Given the description of an element on the screen output the (x, y) to click on. 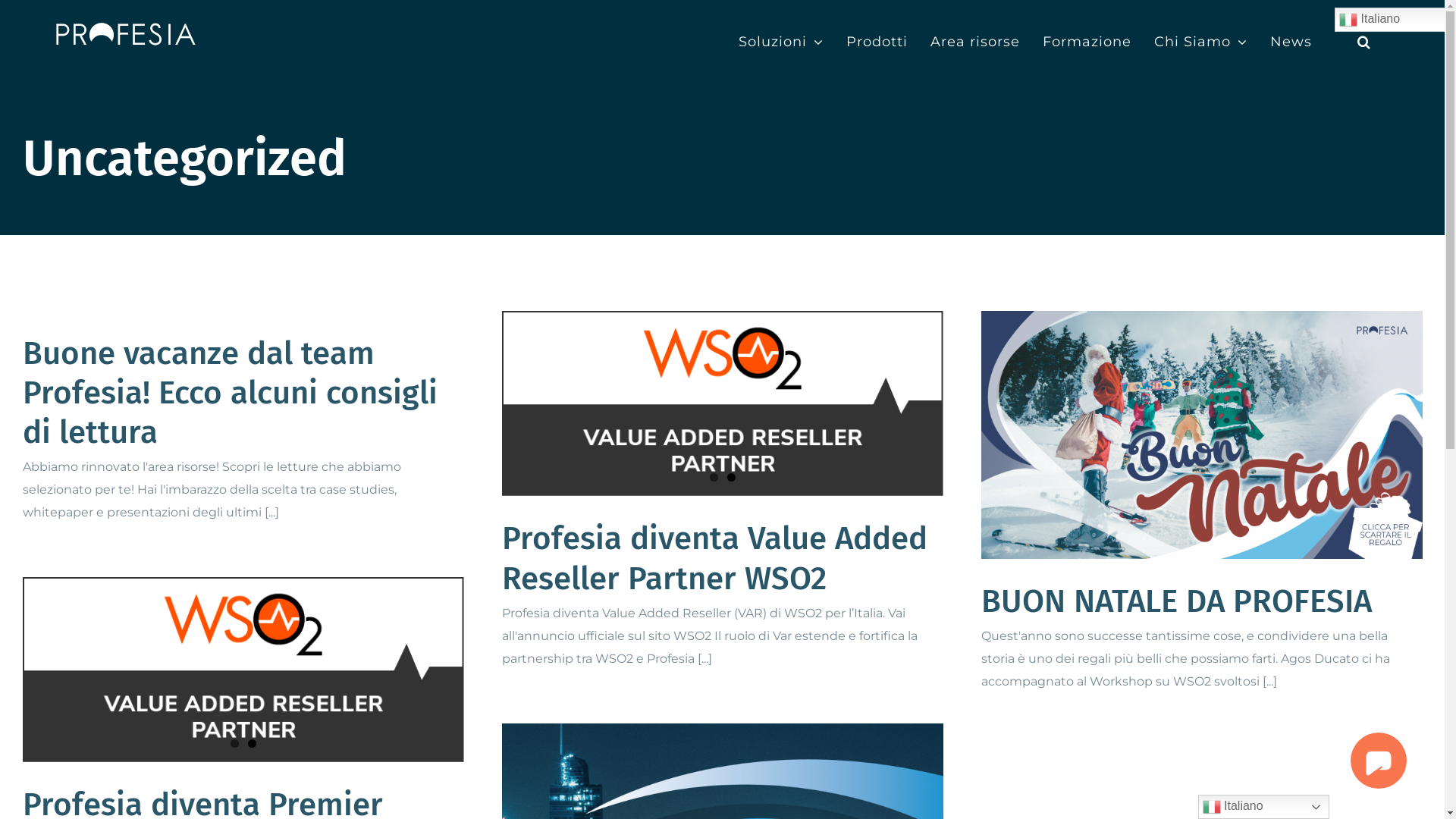
1 Element type: text (234, 743)
Formazione Element type: text (1086, 41)
Prodotti Element type: text (876, 41)
Profesia diventa Value Added Reseller Partner WSO2 Element type: text (714, 557)
Cerca Element type: hover (1364, 41)
1 Element type: text (713, 477)
2 Element type: text (731, 477)
2 Element type: text (251, 743)
News Element type: text (1290, 41)
Chi Siamo Element type: text (1200, 41)
Soluzioni Element type: text (780, 41)
BUON NATALE DA PROFESIA Element type: text (1176, 601)
Area risorse Element type: text (974, 41)
